Given the description of an element on the screen output the (x, y) to click on. 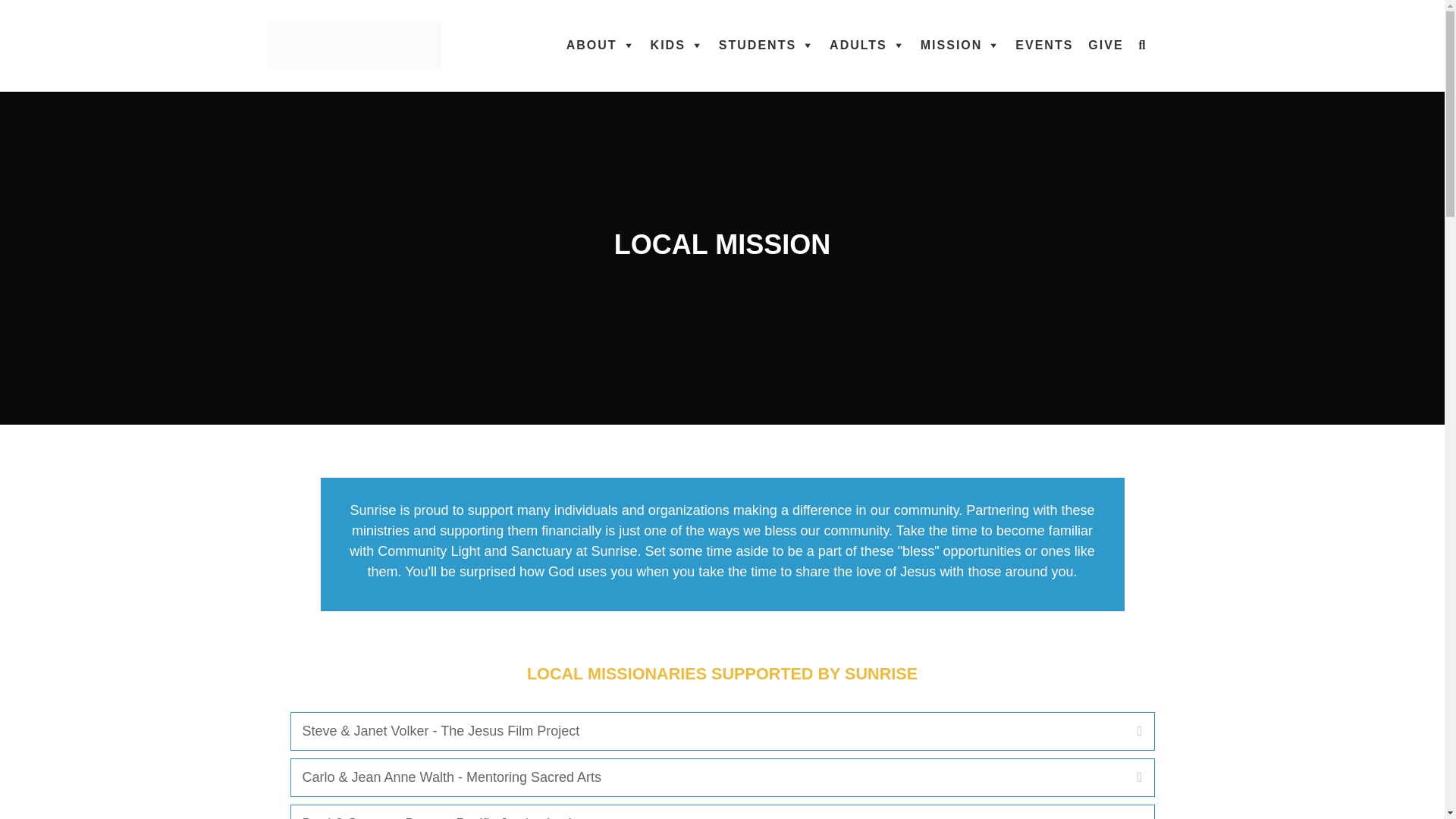
ABOUT (601, 44)
STUDENTS (766, 44)
KIDS (677, 44)
ADULTS (867, 44)
